Given the description of an element on the screen output the (x, y) to click on. 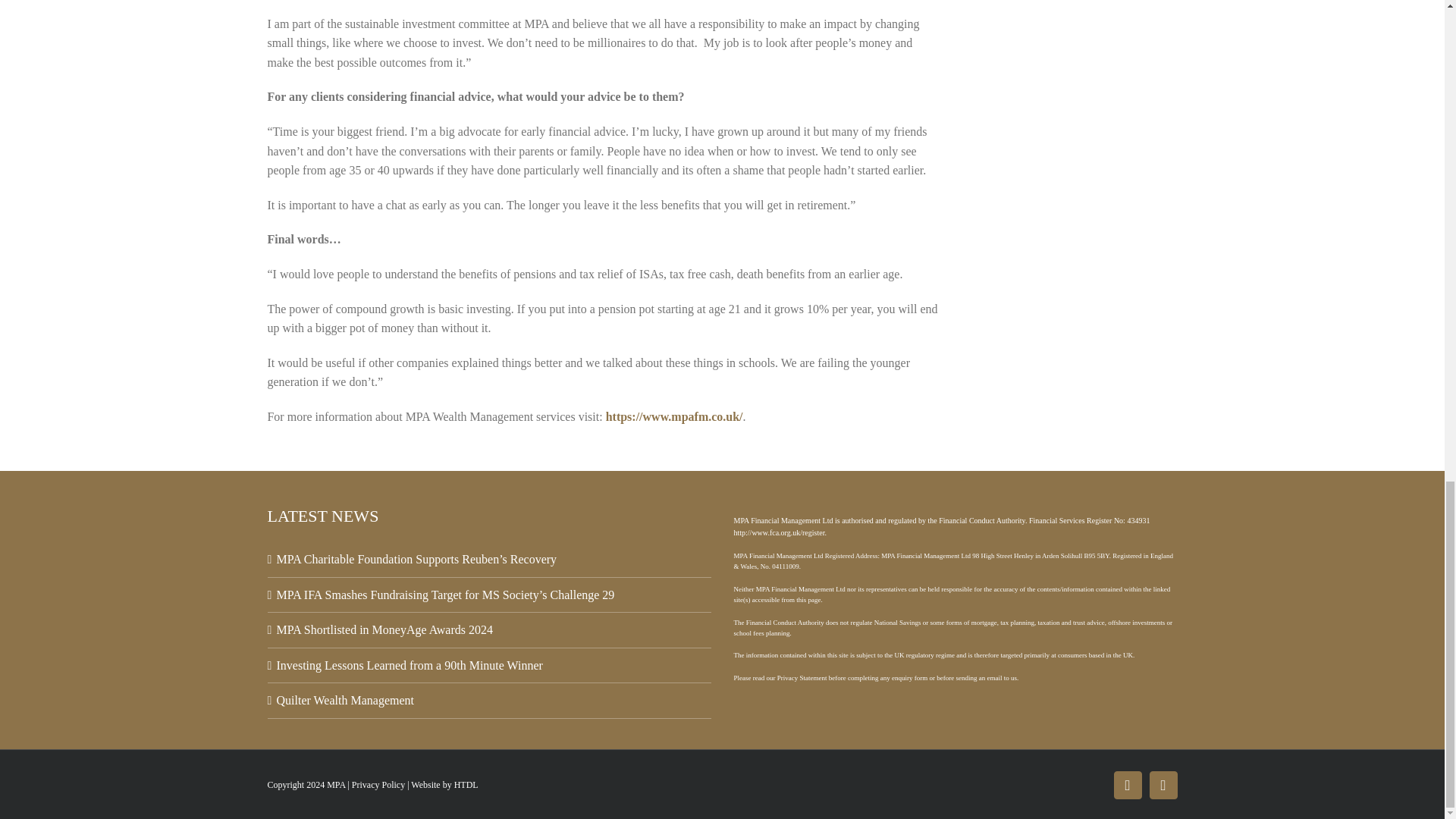
LinkedIn (1163, 785)
Facebook (1127, 785)
